Given the description of an element on the screen output the (x, y) to click on. 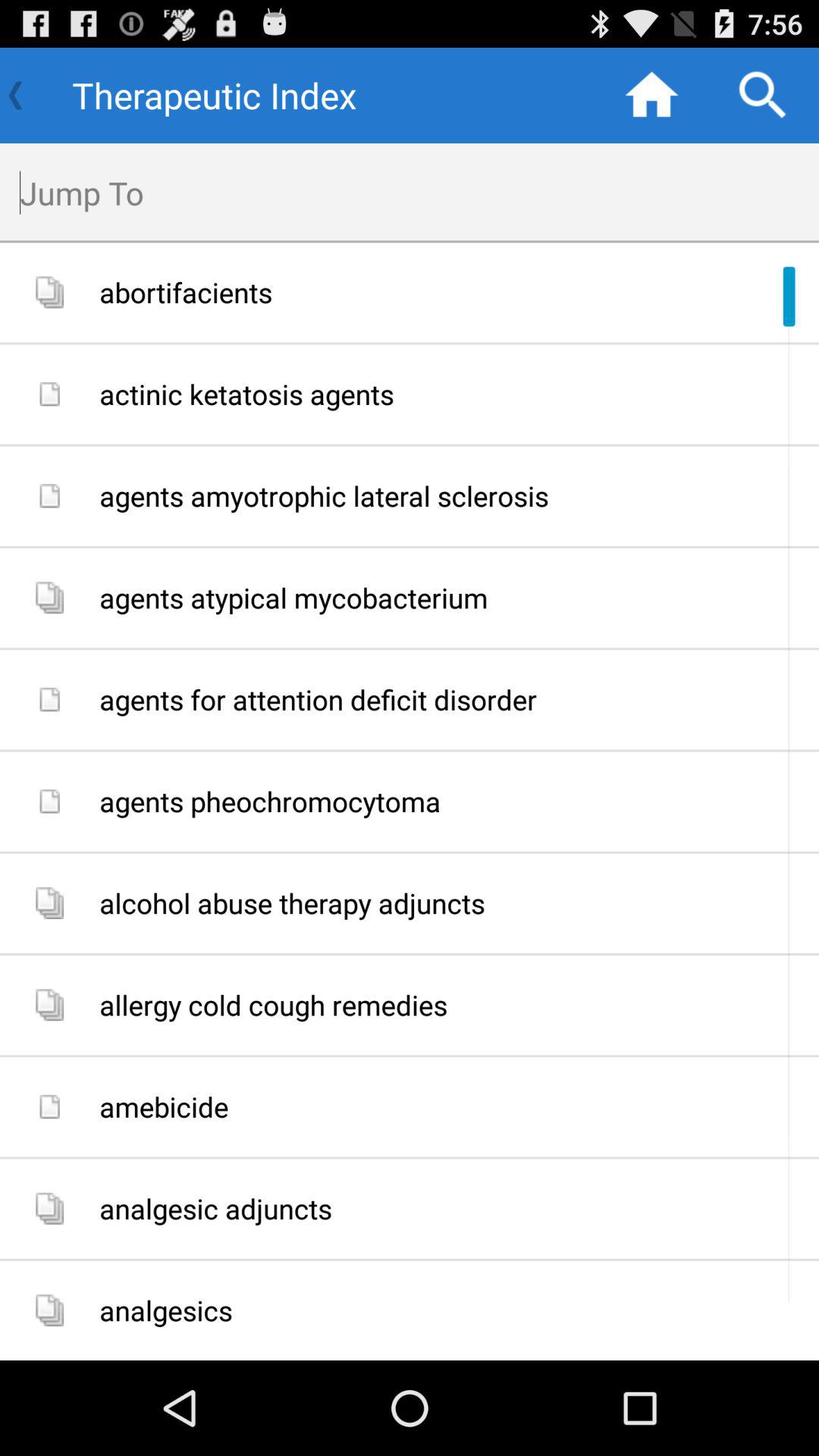
select jump to (419, 192)
click the sixth image icon (49, 801)
select the 4th icon from the top (49, 597)
click the document icon just to the left of actinic ketatosis agents (49, 394)
go to the document icon just to the left of agents amyotrophic lateral sclerosis (49, 496)
